Given the description of an element on the screen output the (x, y) to click on. 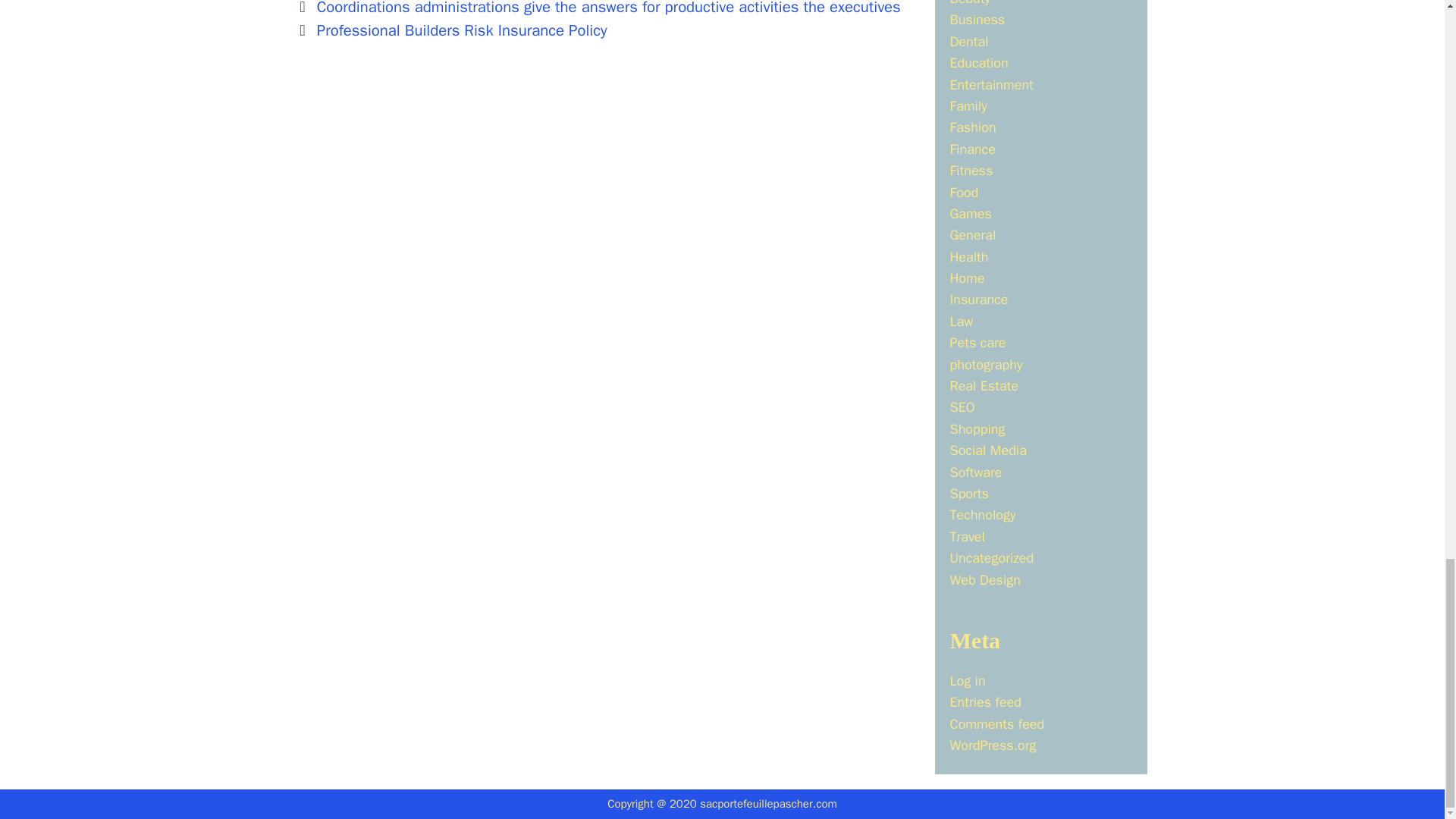
Professional Builders Risk Insurance Policy (462, 30)
Next (452, 30)
Previous (598, 8)
